Given the description of an element on the screen output the (x, y) to click on. 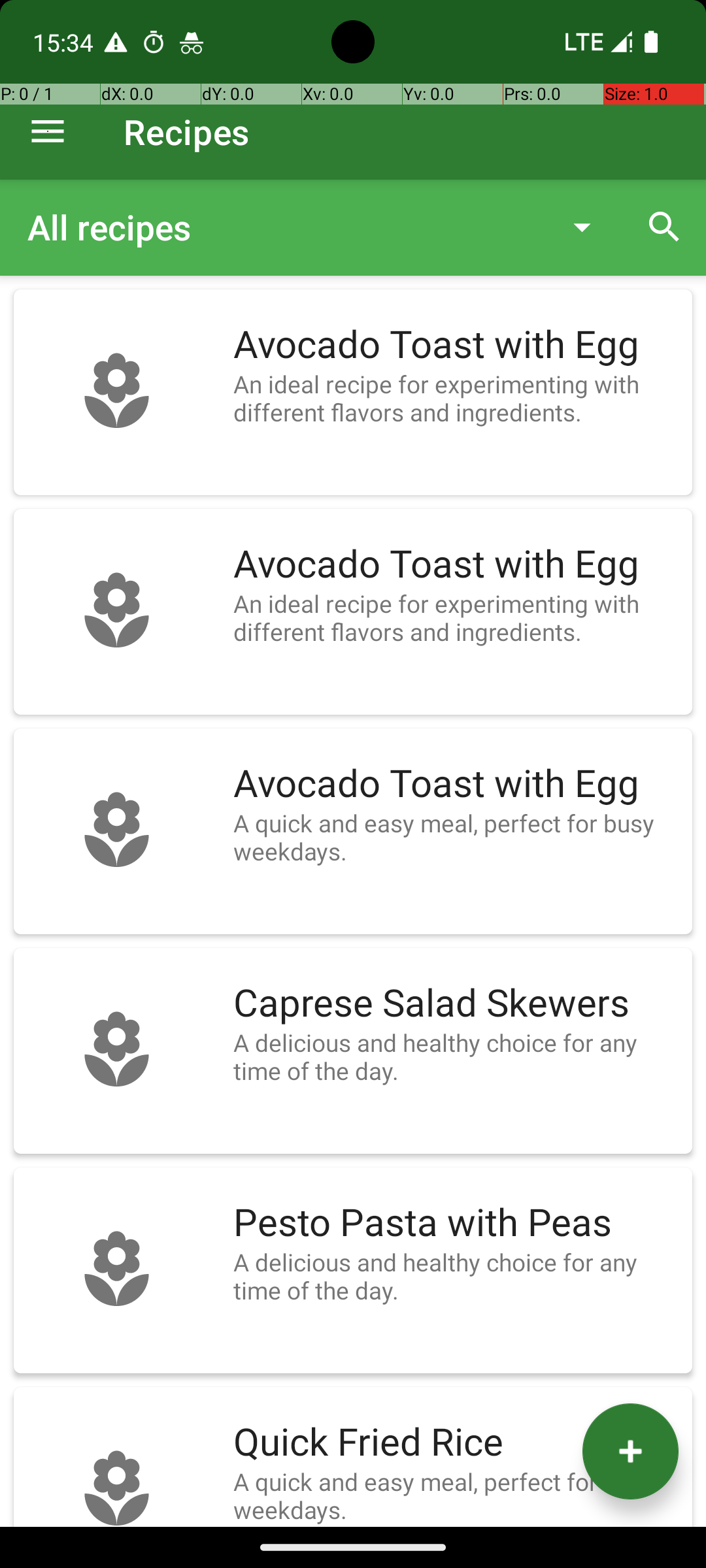
All recipes Element type: android.widget.TextView (283, 226)
Avocado Toast with Egg Element type: android.widget.TextView (455, 344)
An ideal recipe for experimenting with different flavors and ingredients. Element type: android.widget.TextView (455, 397)
A quick and easy meal, perfect for busy weekdays. Element type: android.widget.TextView (455, 836)
Caprese Salad Skewers Element type: android.widget.TextView (455, 1003)
Pesto Pasta with Peas Element type: android.widget.TextView (455, 1222)
Quick Fried Rice Element type: android.widget.TextView (455, 1442)
